Given the description of an element on the screen output the (x, y) to click on. 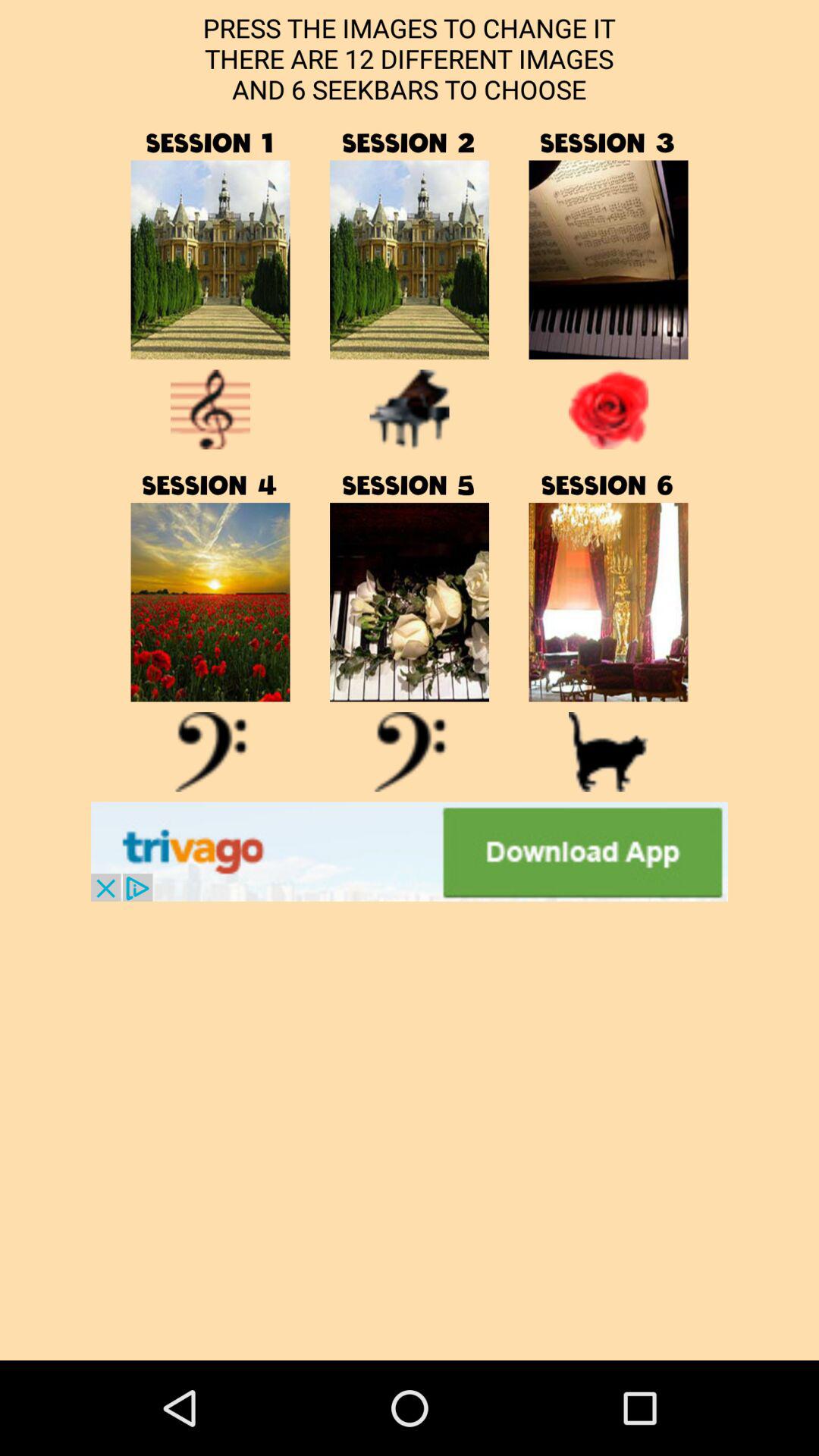
select session 2 (409, 259)
